Given the description of an element on the screen output the (x, y) to click on. 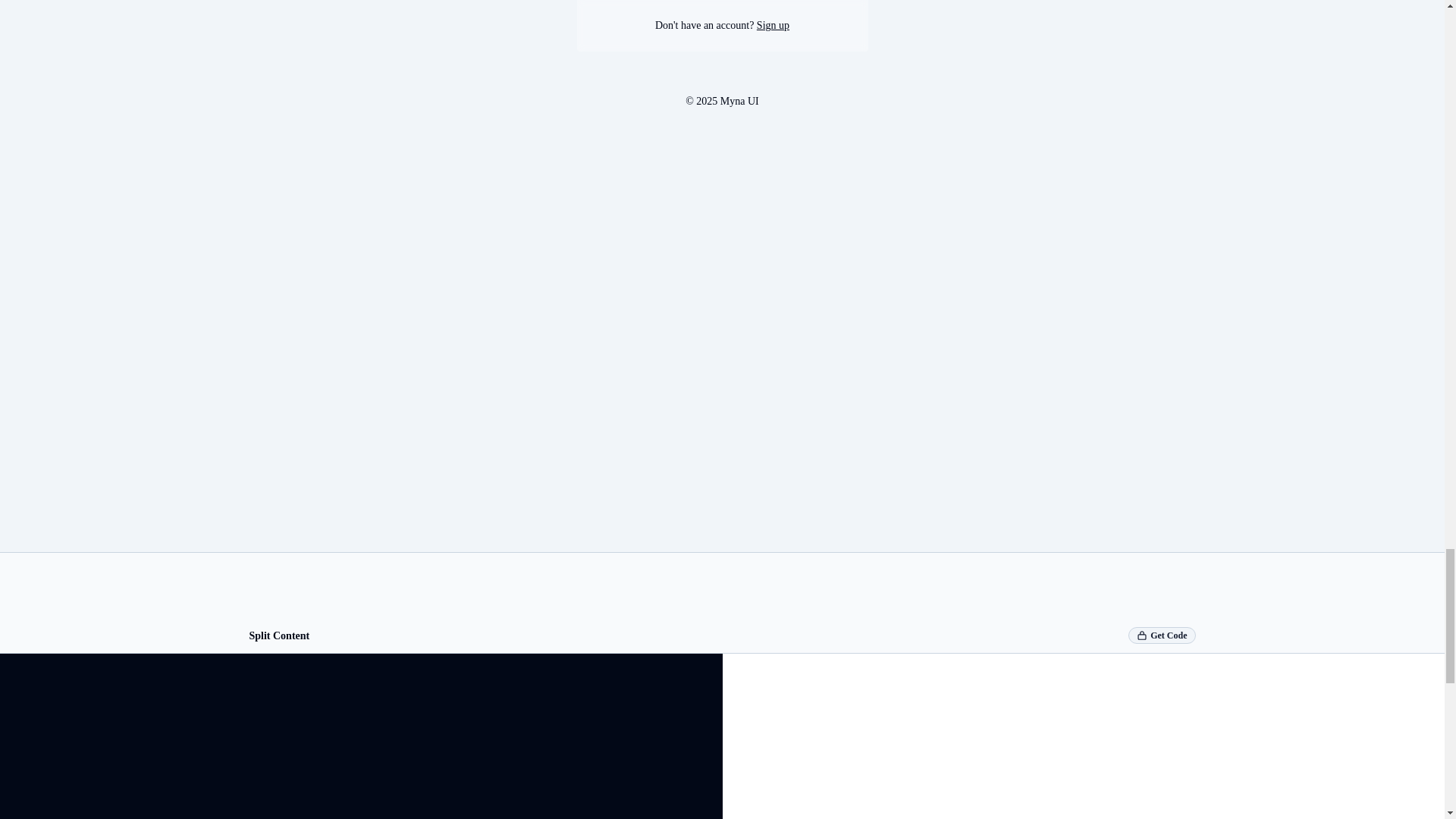
Sign up (773, 25)
Get Code (1161, 635)
Split Content (278, 635)
